Given the description of an element on the screen output the (x, y) to click on. 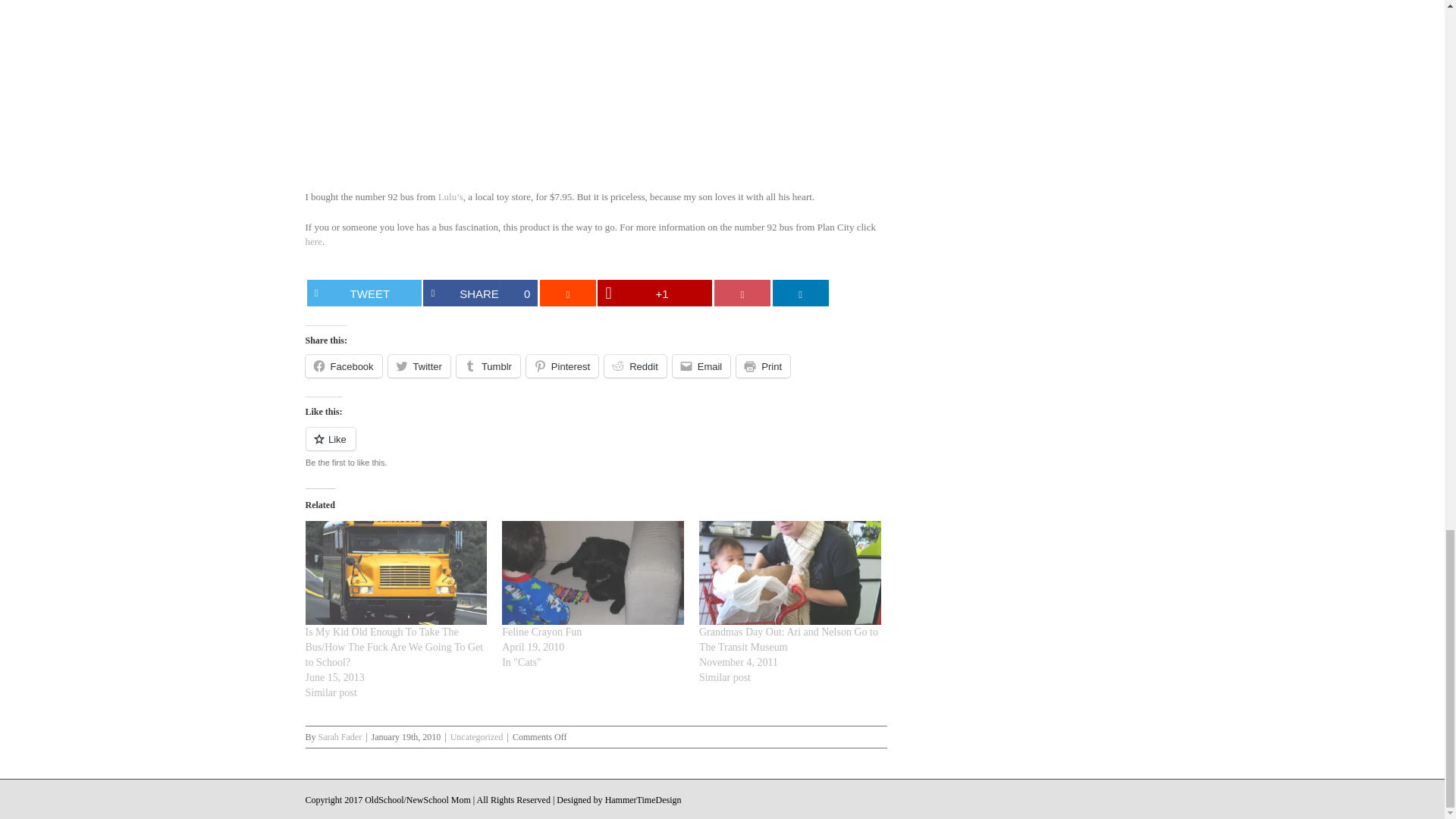
Share on Facebook (480, 293)
Submit to Reddit (567, 293)
Click to email a link to a friend (701, 365)
Click to share on Tumblr (480, 293)
Click to share on Pinterest (488, 365)
Click to share on Reddit (561, 365)
Tweet on Twitter (635, 365)
TWEET (364, 293)
Click to share on Facebook (364, 293)
Save to read later on Pocket (342, 365)
here (742, 293)
Click to share on Twitter (312, 241)
Click to print (418, 365)
Like or Reblog (763, 365)
